Given the description of an element on the screen output the (x, y) to click on. 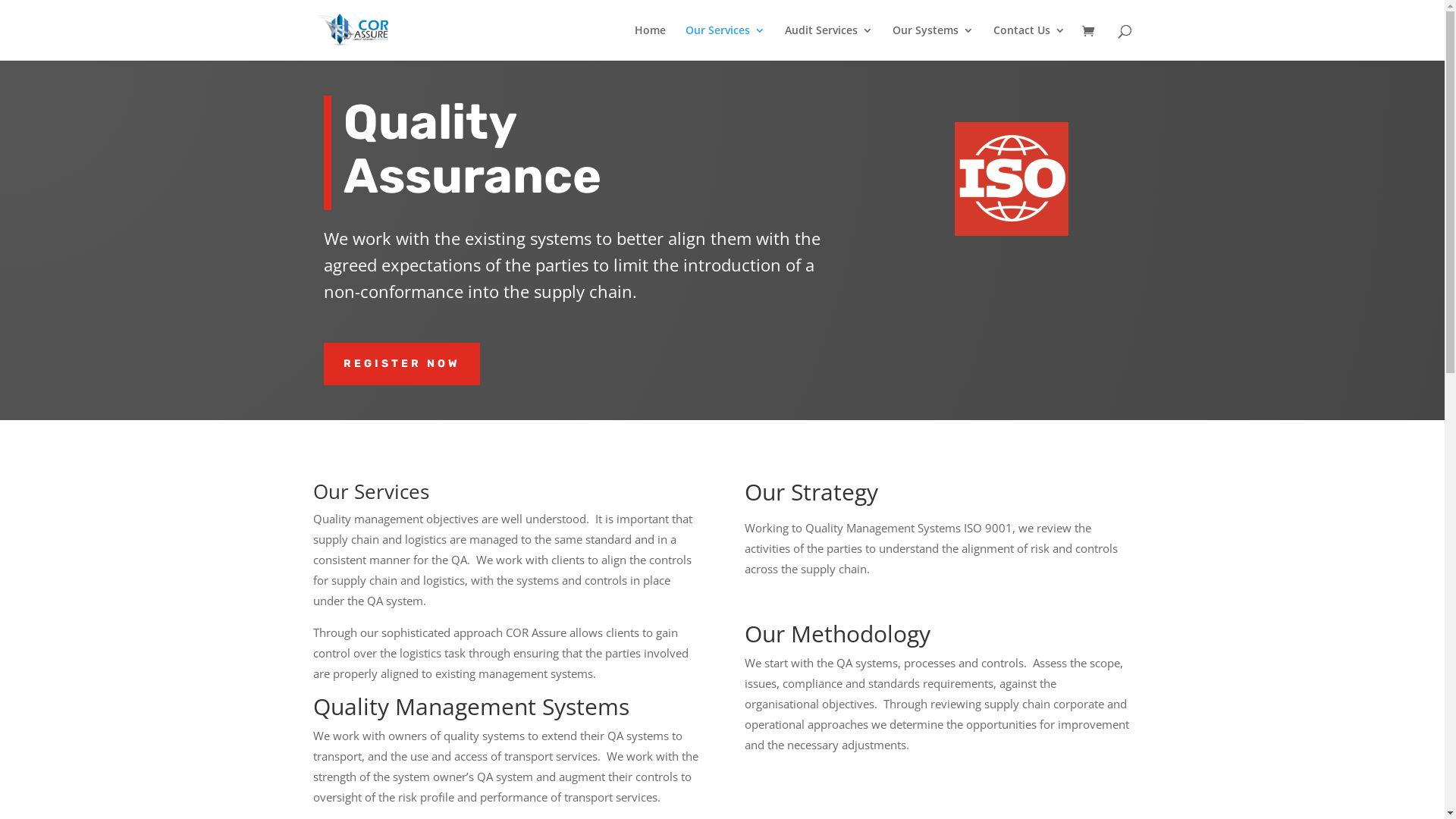
Home Element type: text (649, 42)
Our Systems Element type: text (931, 42)
Our Services Element type: text (725, 42)
REGISTER NOW Element type: text (401, 363)
Contact Us Element type: text (1029, 42)
Audit Services Element type: text (828, 42)
